Given the description of an element on the screen output the (x, y) to click on. 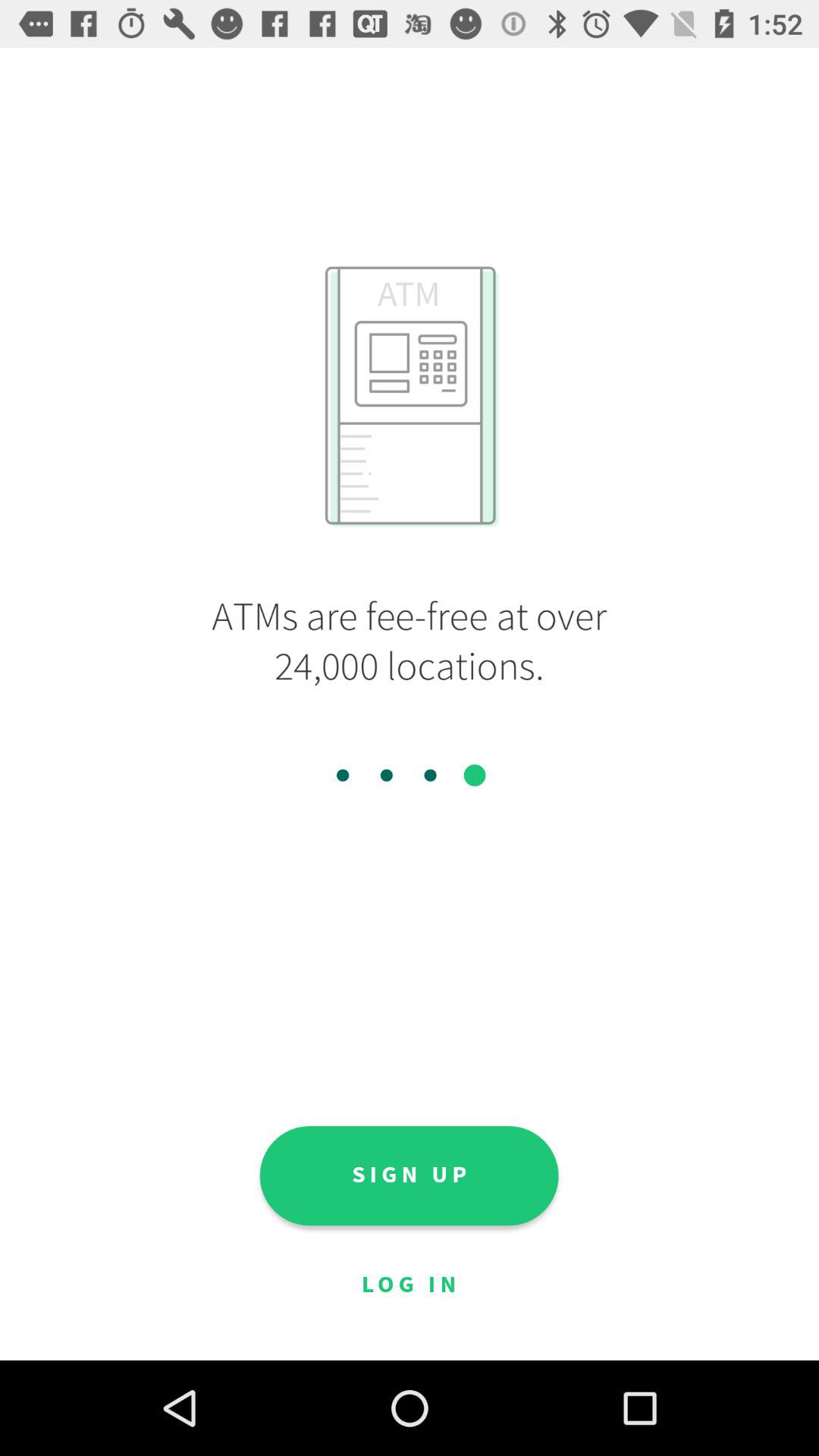
select the sign up icon (408, 1175)
